Given the description of an element on the screen output the (x, y) to click on. 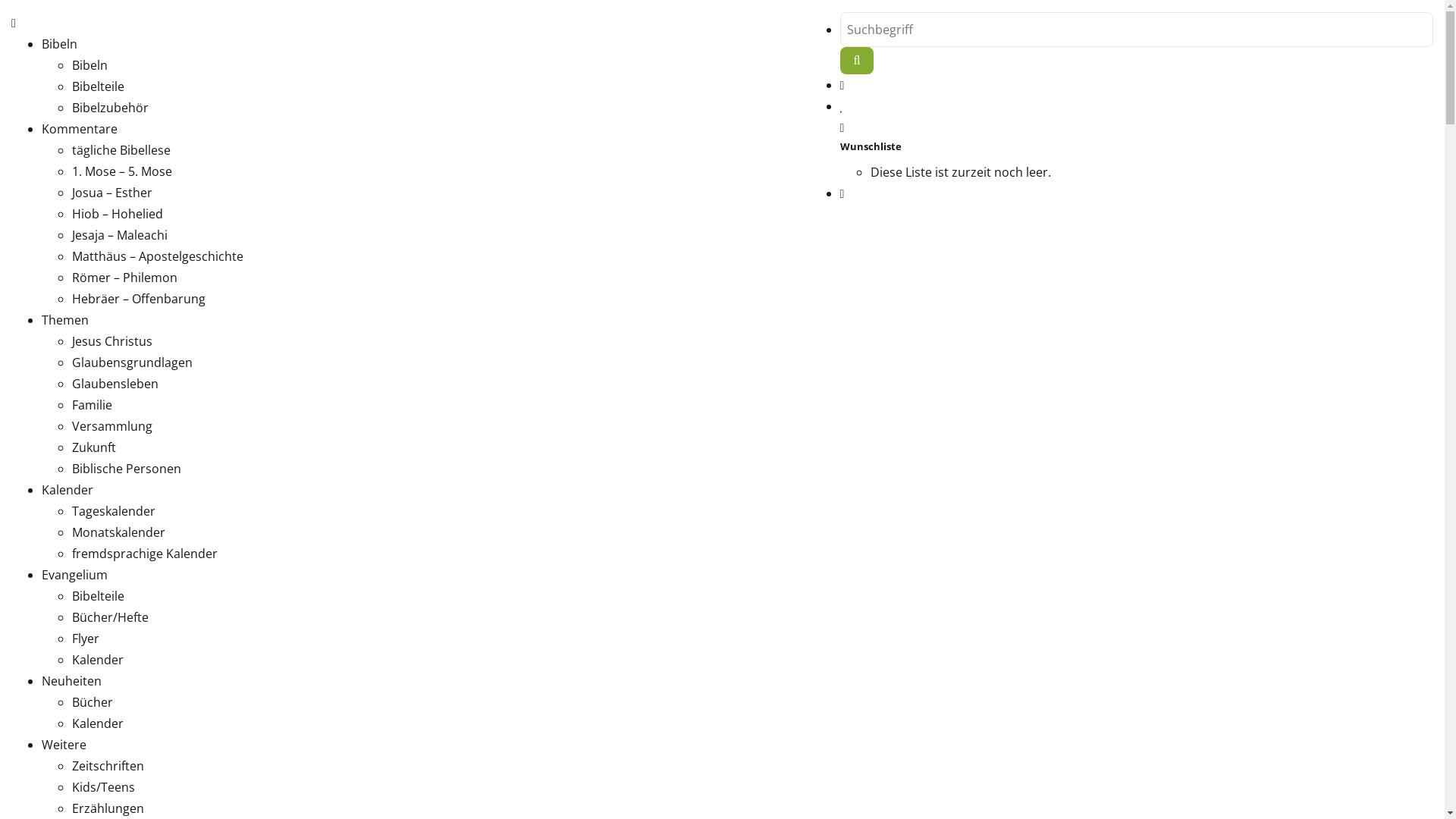
Familie Element type: text (92, 404)
Kids/Teens Element type: text (103, 786)
Bibeln Element type: text (59, 43)
Tageskalender Element type: text (113, 510)
Neuheiten Element type: text (71, 680)
Zeitschriften Element type: text (108, 765)
Kalender Element type: text (97, 659)
Kalender Element type: text (67, 489)
Kommentare Element type: text (79, 128)
Kalender Element type: text (97, 723)
Flyer Element type: text (85, 638)
Evangelium Element type: text (74, 574)
Biblische Personen Element type: text (126, 468)
Themen Element type: text (64, 319)
Monatskalender Element type: text (118, 532)
Weitere Element type: text (63, 744)
Versammlung Element type: text (112, 425)
Glaubensgrundlagen Element type: text (132, 362)
Zukunft Element type: text (94, 447)
Bibelteile Element type: text (98, 595)
Jesus Christus Element type: text (112, 340)
Bibelteile Element type: text (98, 86)
Bibeln Element type: text (89, 64)
Glaubensleben Element type: text (115, 383)
fremdsprachige Kalender Element type: text (144, 553)
